Given the description of an element on the screen output the (x, y) to click on. 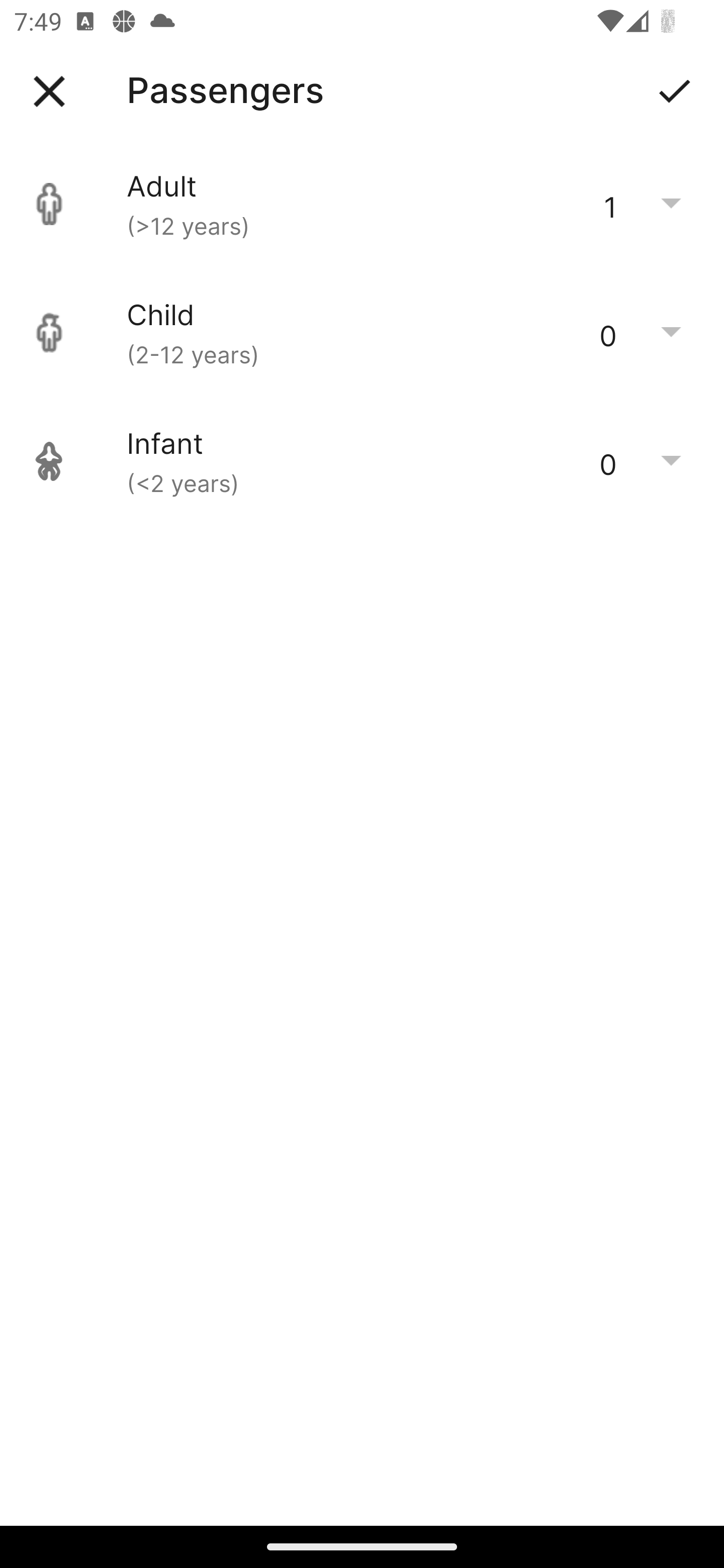
Adult (>12 years) 1 (362, 204)
Child (2-12 years) 0 (362, 332)
Infant (<2 years) 0 (362, 461)
